Given the description of an element on the screen output the (x, y) to click on. 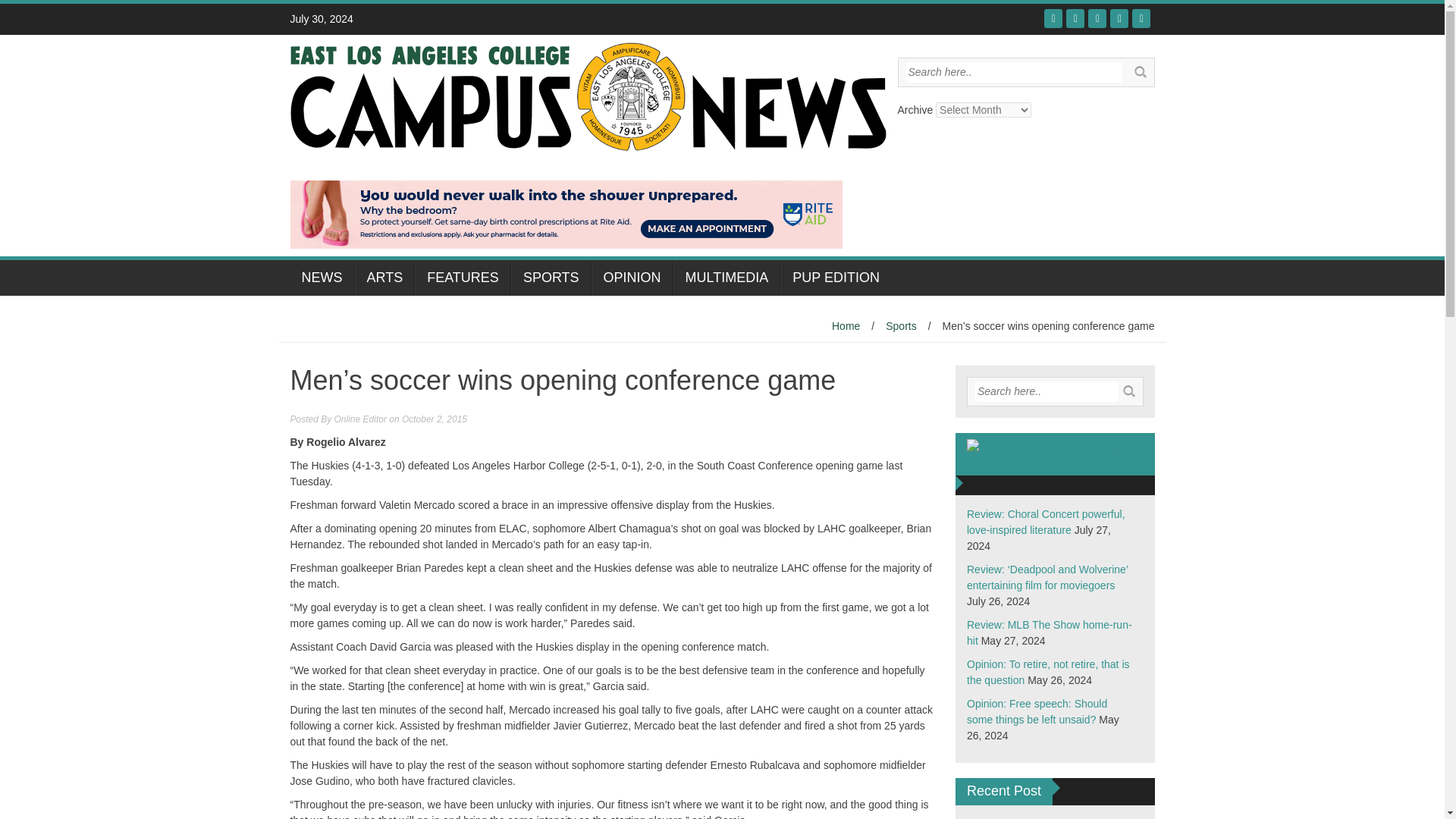
Instagram (1118, 18)
East Los Angeles College Campus News (587, 95)
OPINION (631, 277)
FEATURES (462, 277)
Search here.. (1013, 72)
Twitter (1074, 18)
ARTS (384, 277)
Facebook (1052, 18)
Home (845, 326)
SPORTS (551, 277)
MULTIMEDIA (726, 277)
PUP EDITION (835, 277)
Online Editor (360, 419)
Email (1141, 18)
Posts by Online Editor (360, 419)
